Given the description of an element on the screen output the (x, y) to click on. 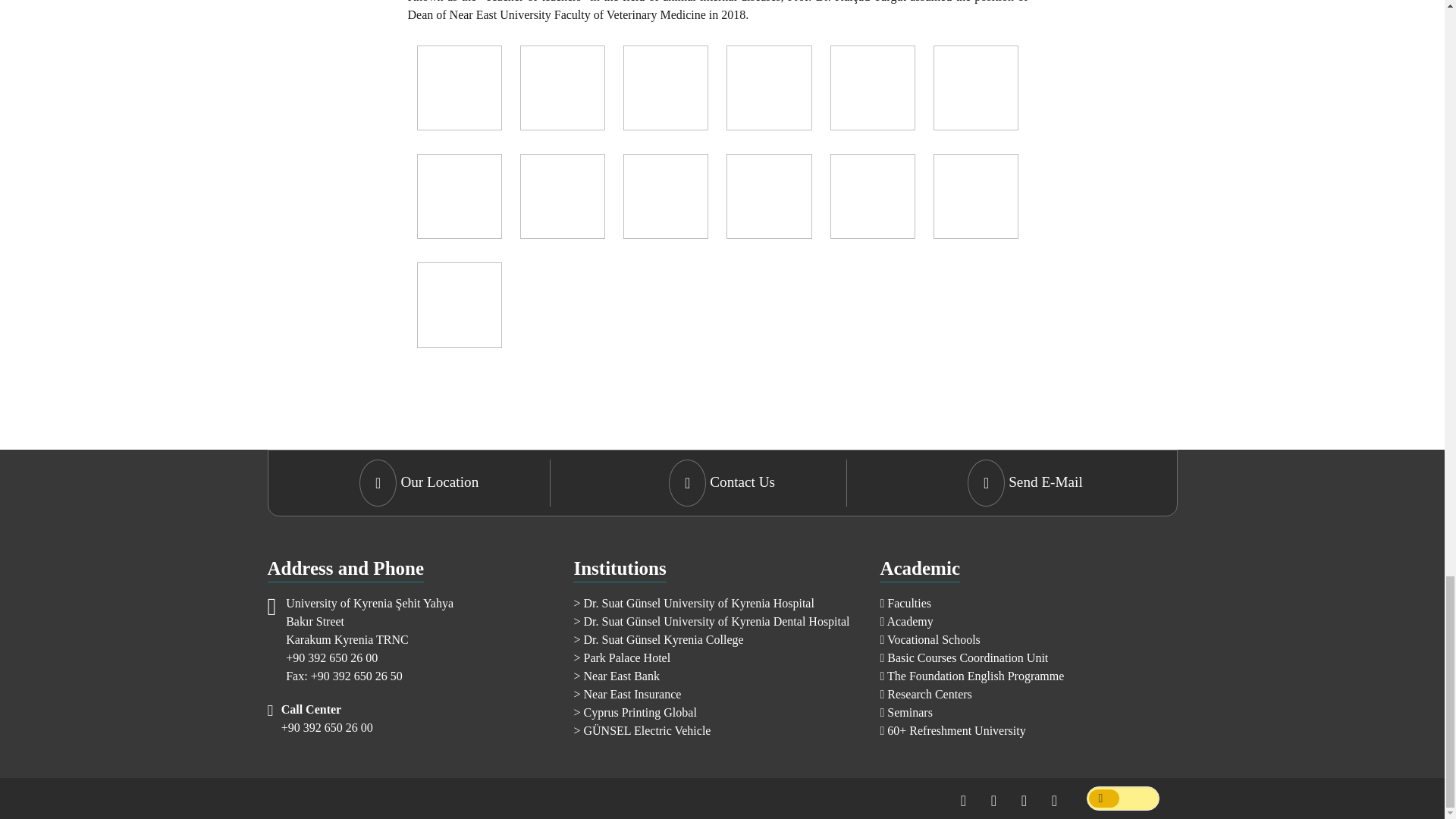
dark (1122, 798)
